Given the description of an element on the screen output the (x, y) to click on. 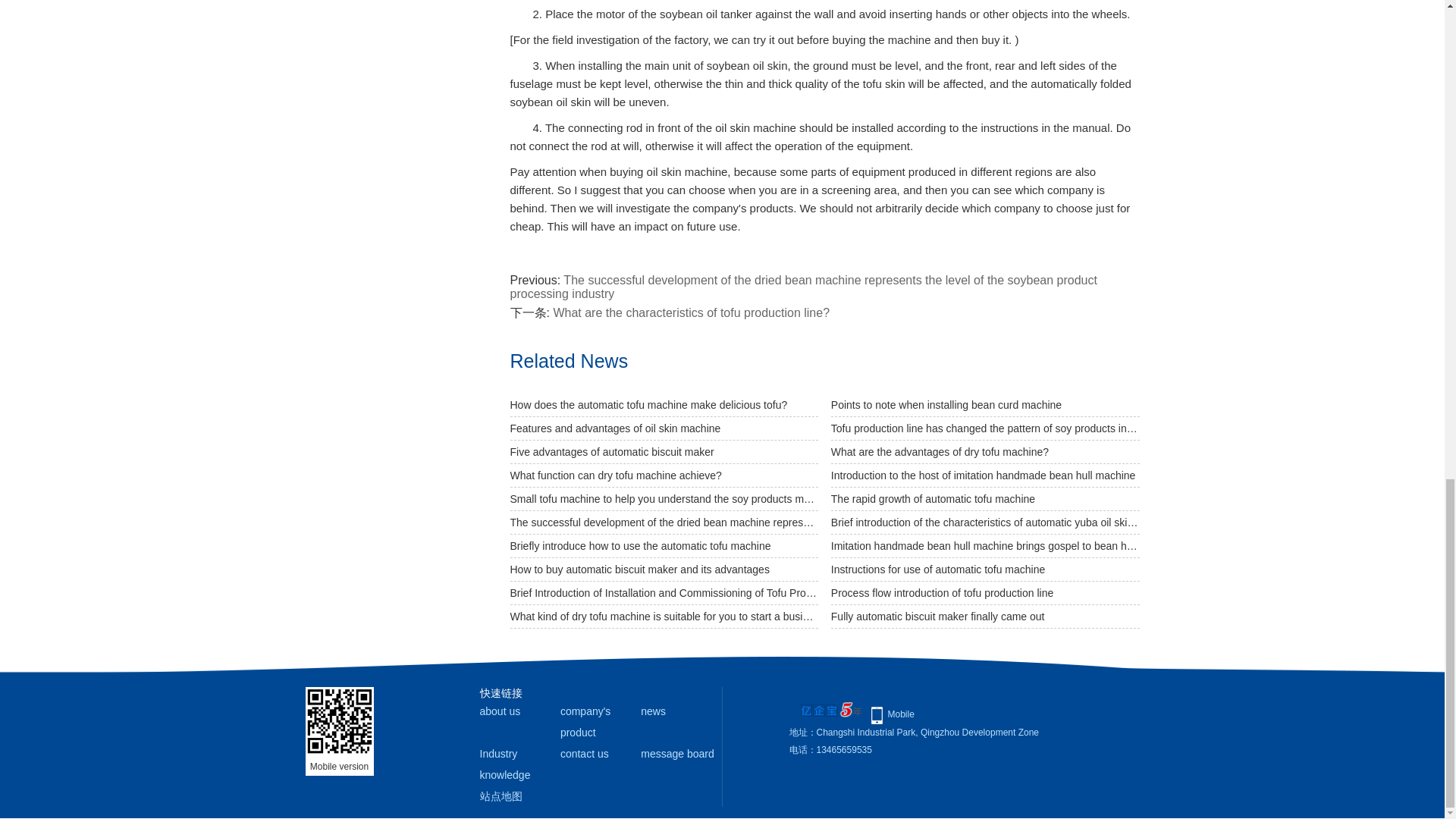
Five advantages of automatic biscuit maker (663, 452)
Instructions for use of automatic tofu machine (985, 569)
What are the characteristics of tofu production line? (691, 312)
How to buy automatic biscuit maker and its advantages (663, 569)
Features and advantages of oil skin machine (663, 428)
Points to note when installing bean curd machine (985, 404)
Briefly introduce how to use the automatic tofu machine (663, 545)
The rapid growth of automatic tofu machine (985, 499)
